Given the description of an element on the screen output the (x, y) to click on. 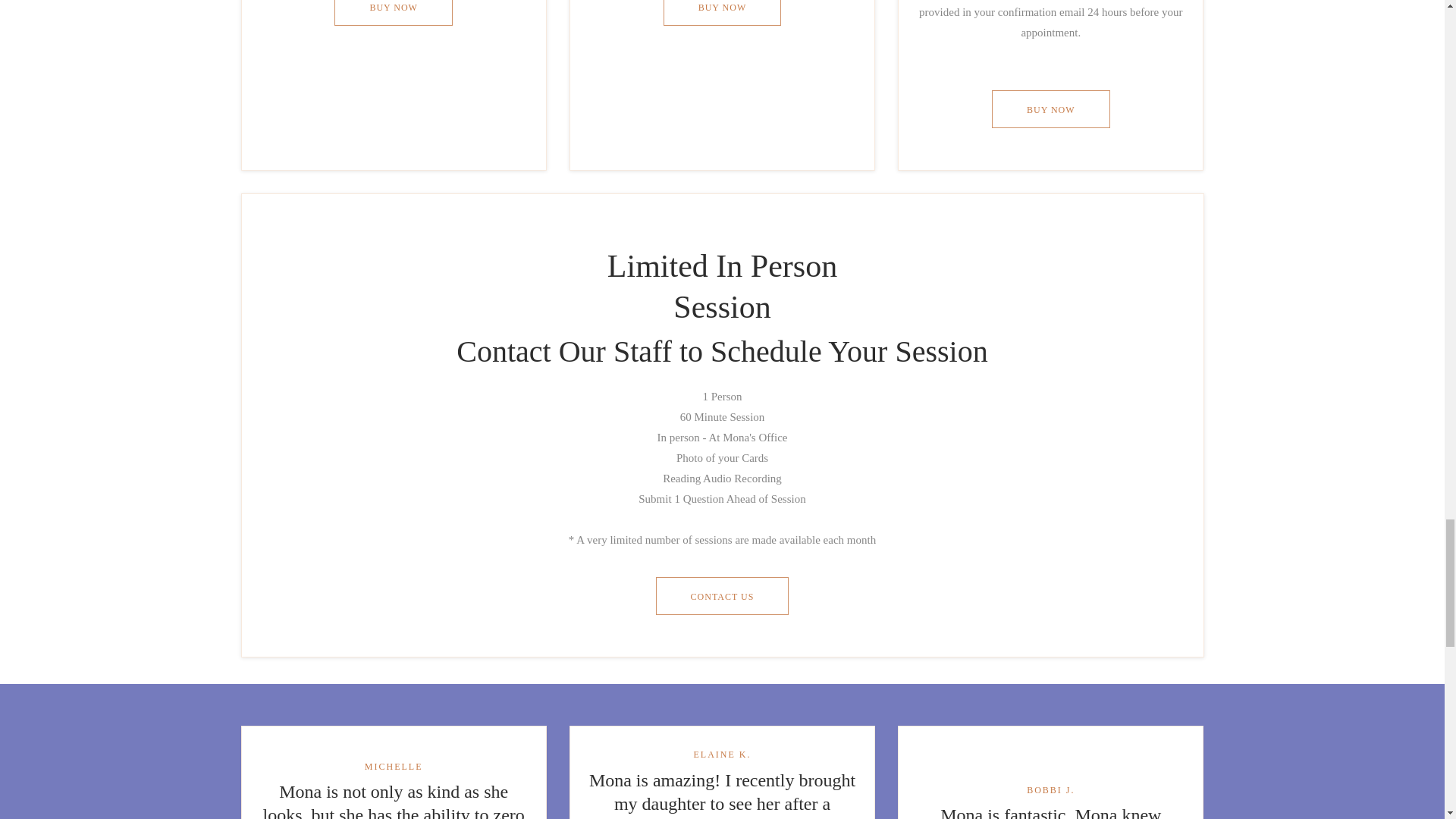
BUY NOW (1050, 108)
BUY NOW (722, 12)
BUY NOW (393, 12)
CONTACT US (722, 596)
